Given the description of an element on the screen output the (x, y) to click on. 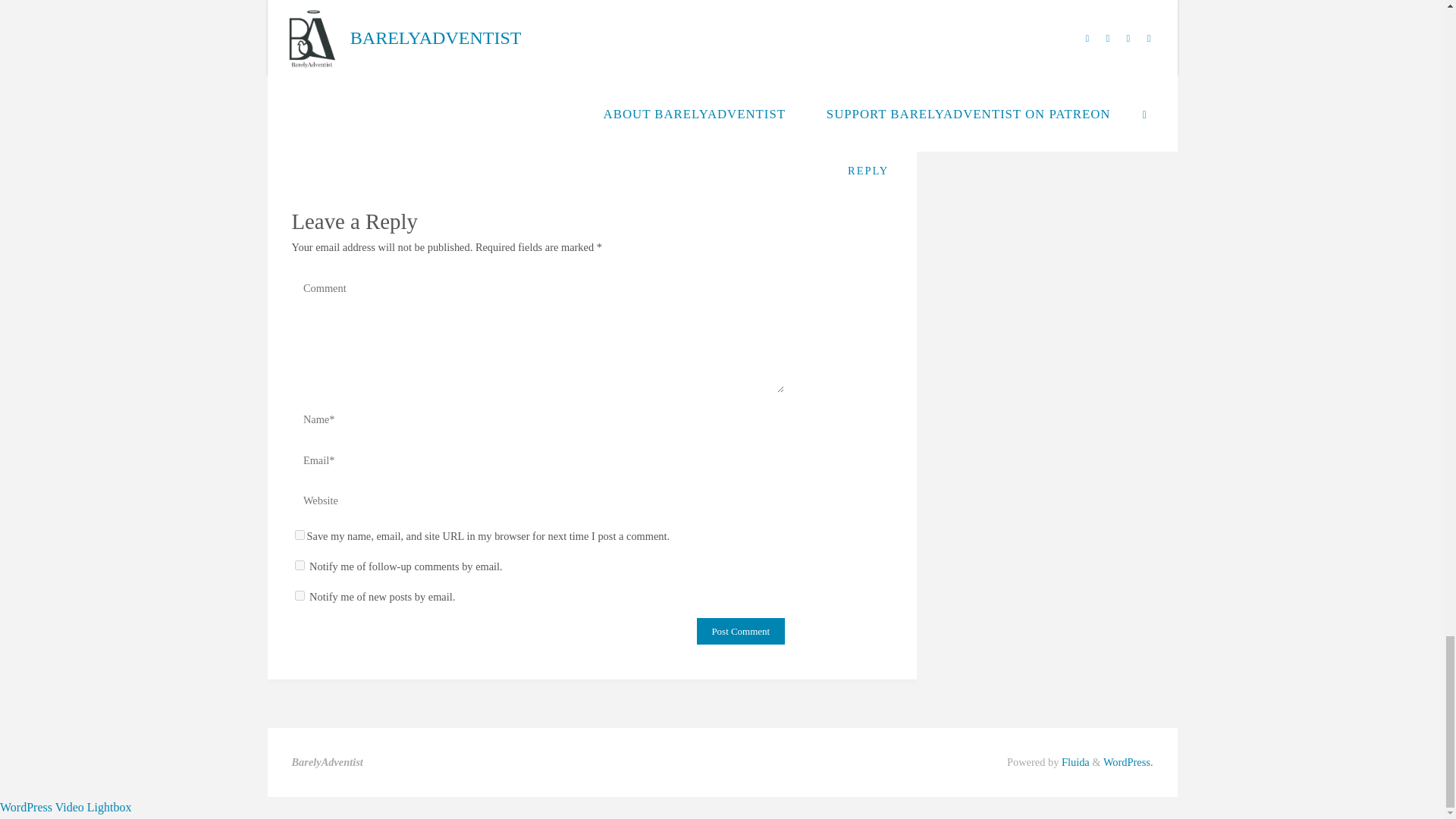
yes (299, 534)
Post Comment (740, 630)
subscribe (299, 595)
subscribe (299, 565)
